Given the description of an element on the screen output the (x, y) to click on. 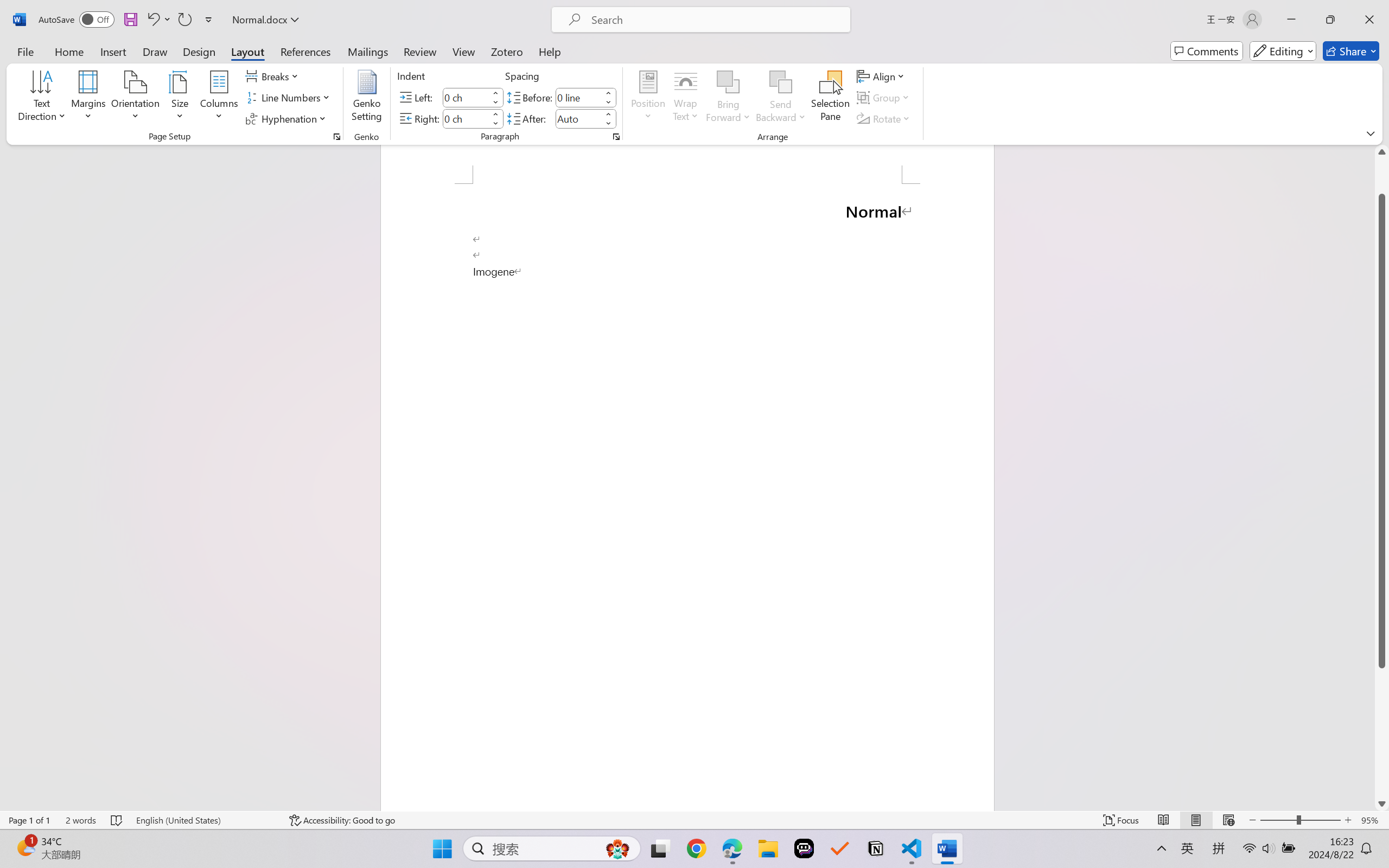
Orientation (135, 97)
Genko Setting... (367, 97)
Spacing Before (578, 96)
Class: MsoCommandBar (694, 819)
Line down (1382, 803)
Spacing After (578, 118)
Columns (219, 97)
Indent Left (465, 96)
Microsoft search (715, 19)
Group (884, 97)
